Given the description of an element on the screen output the (x, y) to click on. 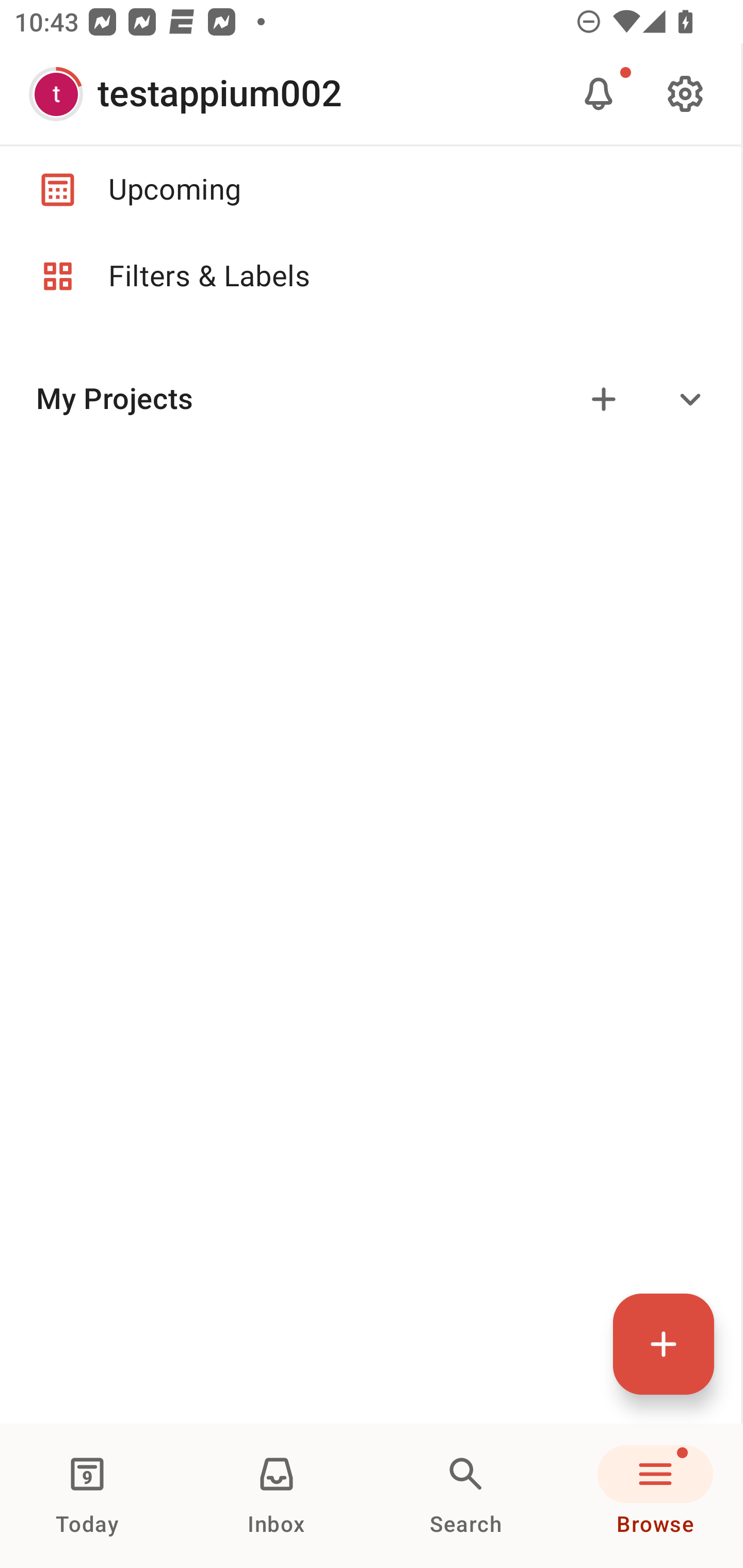
Notifications (598, 93)
Settings (684, 93)
Upcoming (370, 189)
Filters & Labels (370, 276)
My Projects Add Expand/collapse (370, 398)
Add (603, 398)
Expand/collapse (690, 398)
Quick add (663, 1343)
Today (87, 1495)
Inbox (276, 1495)
Search (465, 1495)
